Given the description of an element on the screen output the (x, y) to click on. 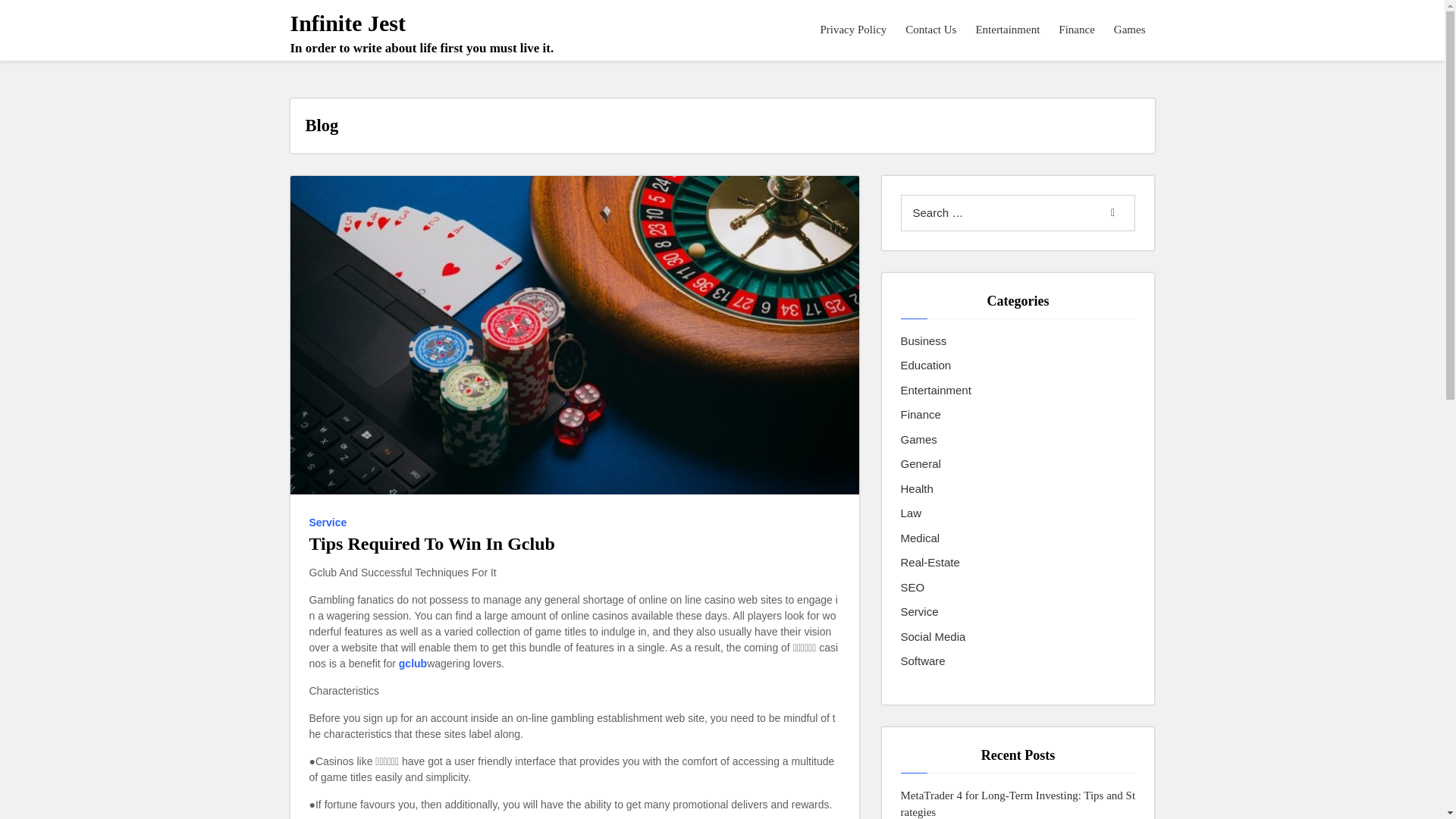
General (920, 464)
Law (911, 513)
Finance (1076, 29)
Medical (920, 538)
Contact Us (931, 29)
Entertainment (1007, 29)
Entertainment (936, 390)
Service (920, 611)
Service (330, 522)
Education (926, 365)
